Given the description of an element on the screen output the (x, y) to click on. 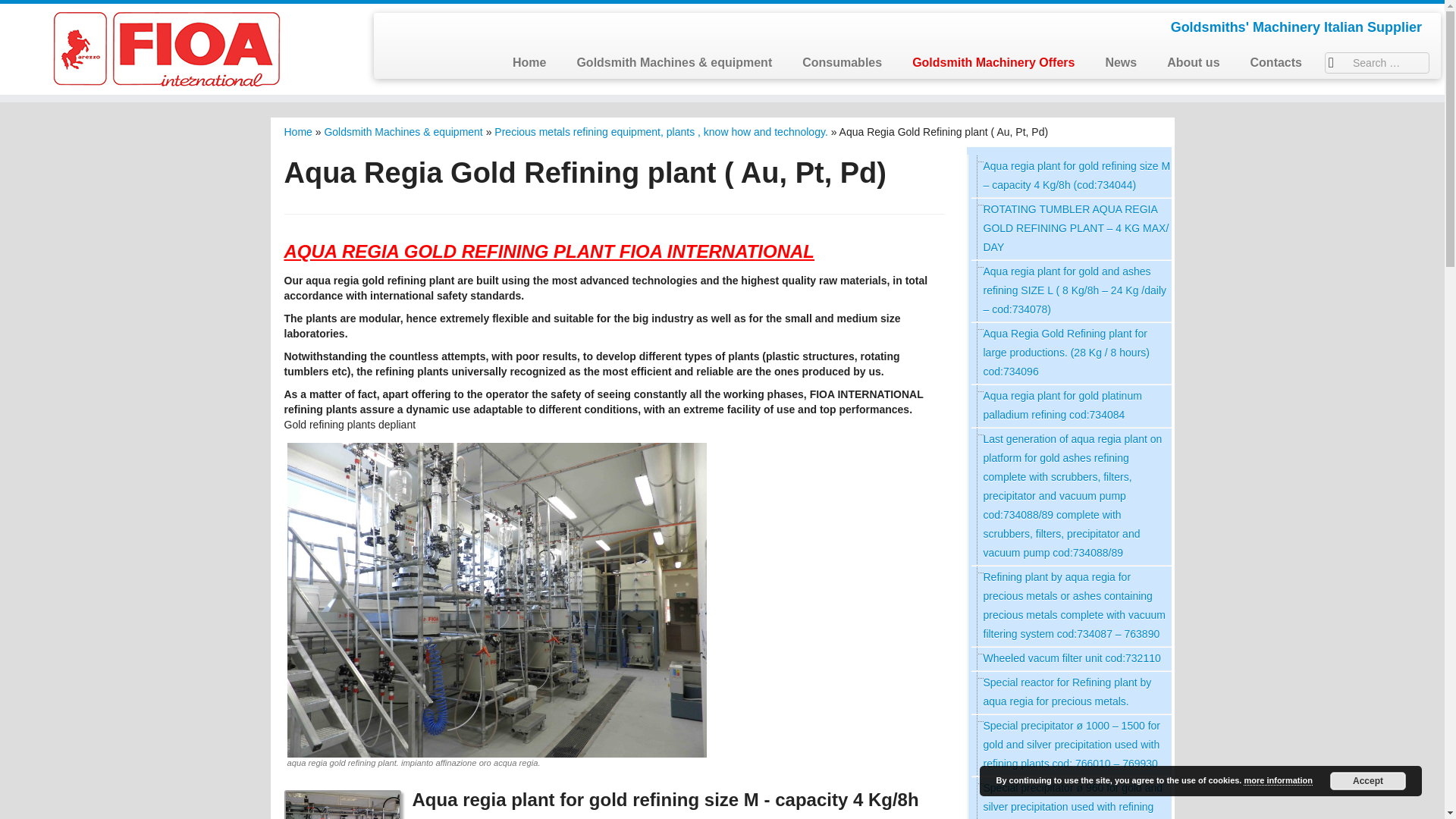
News (1120, 62)
FIOA International (297, 132)
Consumables (841, 62)
Home (297, 132)
Home (528, 62)
Search (26, 11)
Goldsmith Machinery Offers (992, 62)
